Given the description of an element on the screen output the (x, y) to click on. 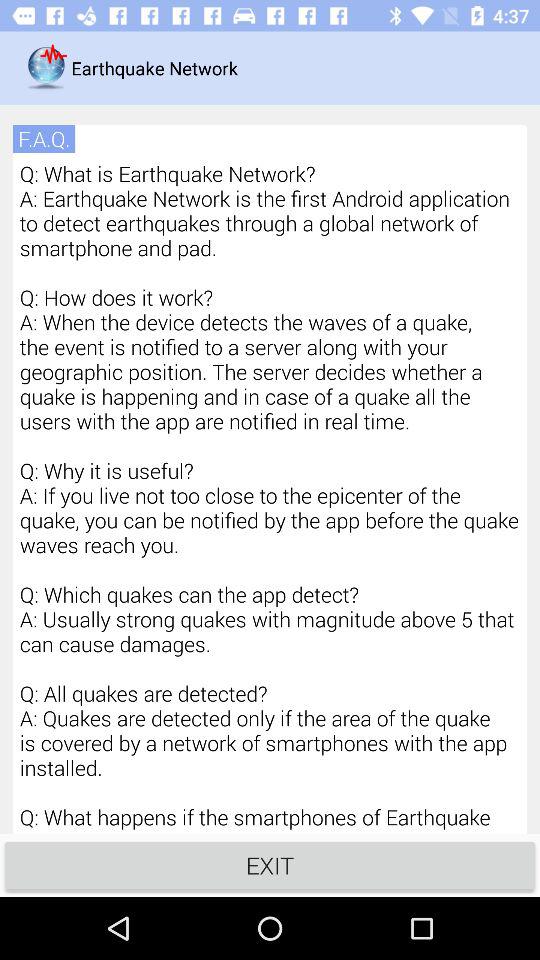
scroll until exit icon (270, 864)
